Given the description of an element on the screen output the (x, y) to click on. 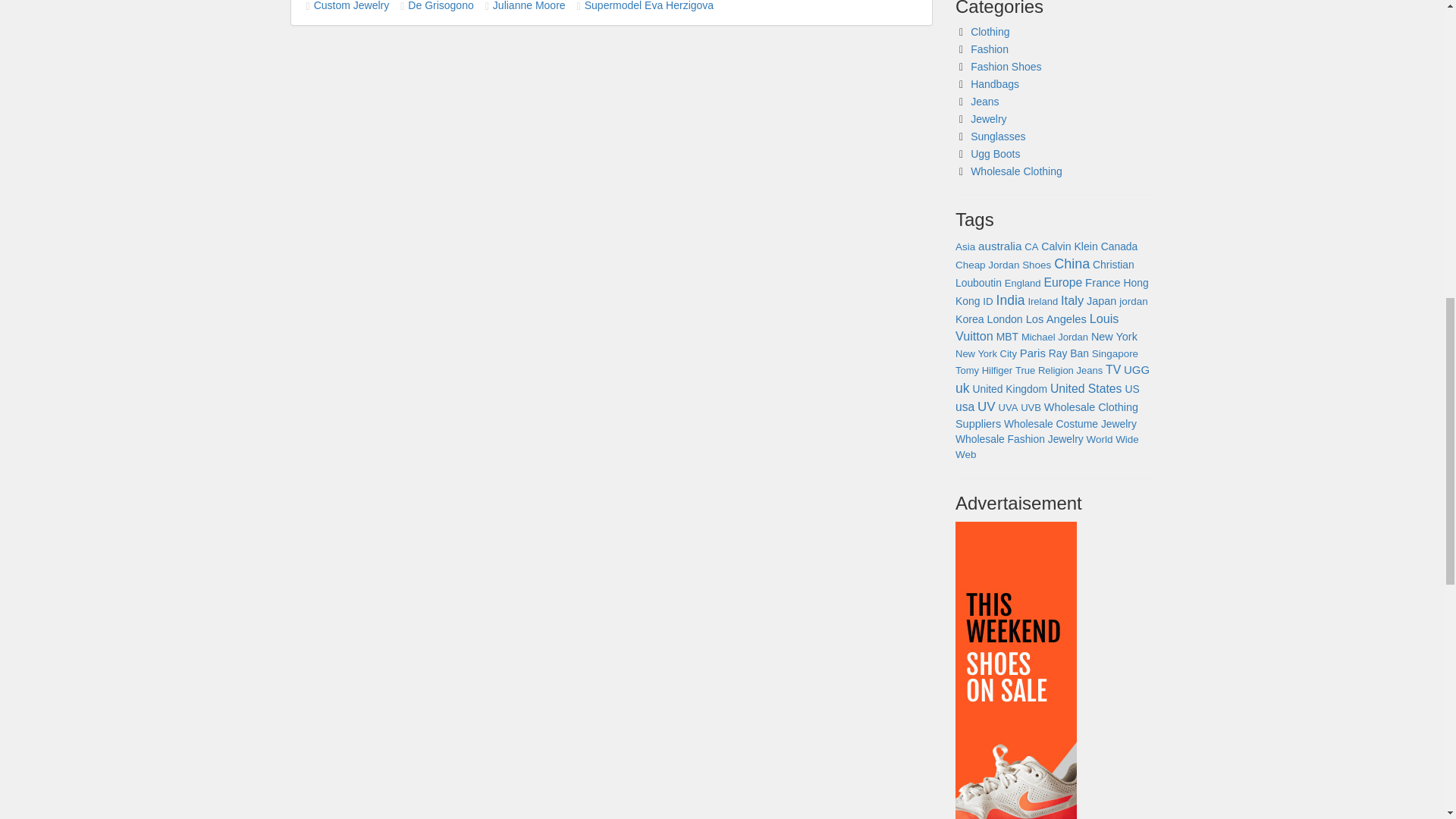
Jeans (984, 101)
Custom Jewelry (352, 5)
CA (1031, 246)
Ugg Boots (995, 153)
De Grisogono (440, 5)
Clothing (990, 31)
Julianne Moore (529, 5)
Fashion (990, 49)
australia (1000, 245)
Jewelry (988, 119)
